Given the description of an element on the screen output the (x, y) to click on. 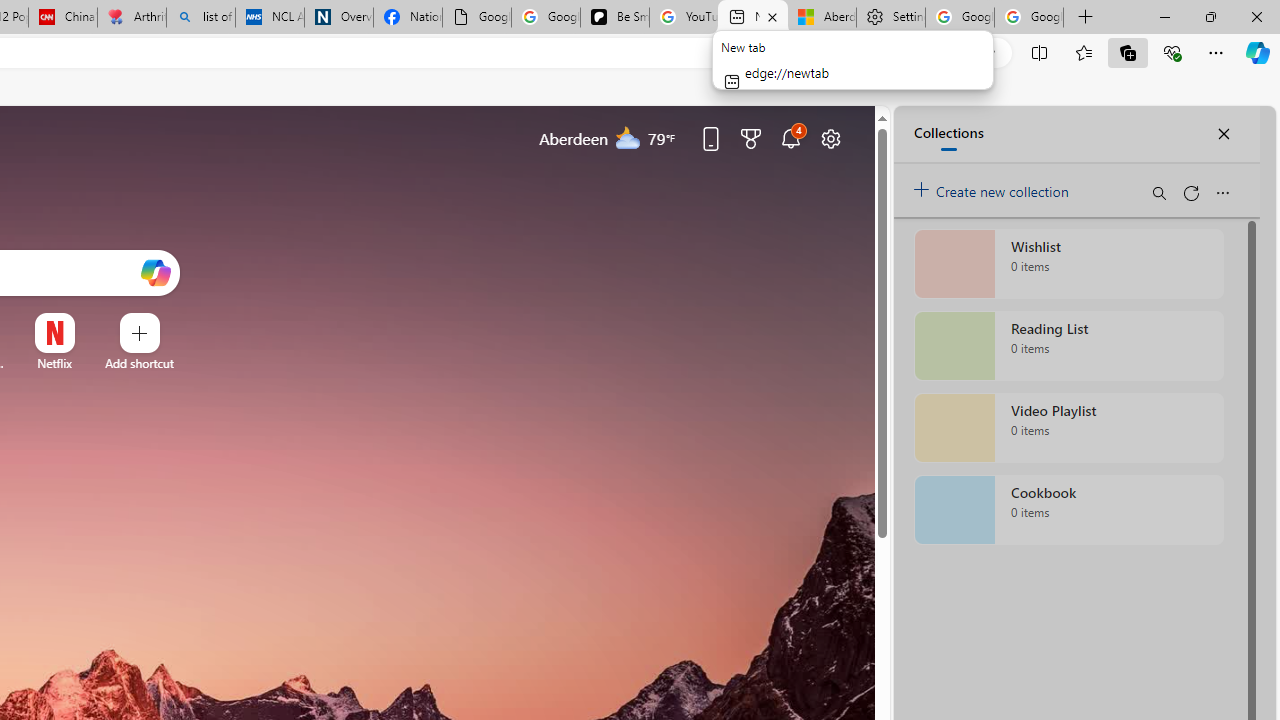
Page settings (831, 138)
Aberdeen, Hong Kong SAR hourly forecast | Microsoft Weather (822, 17)
